Given the description of an element on the screen output the (x, y) to click on. 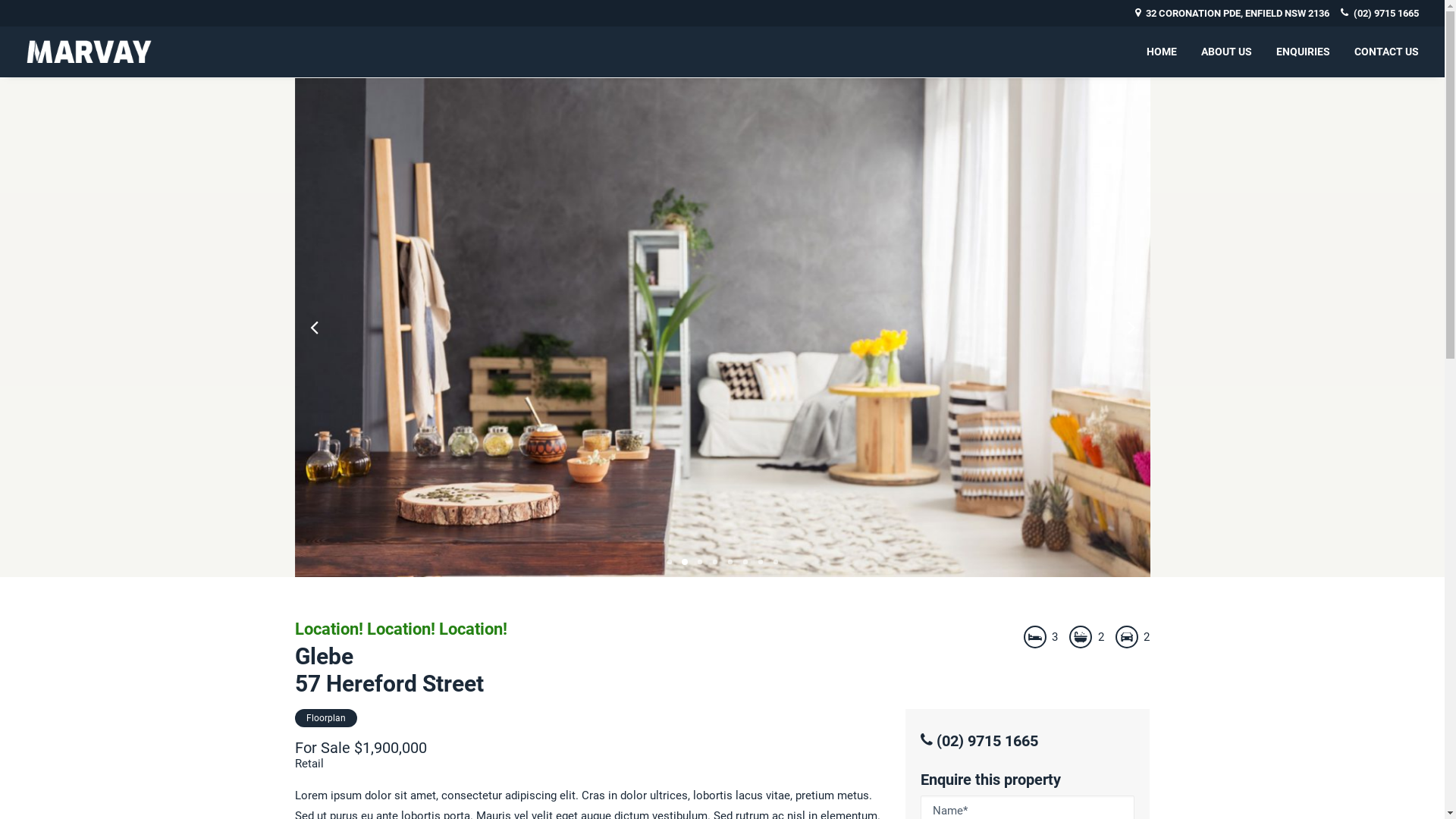
(02) 9715 1665 Element type: text (1379, 12)
ENQUIRIES Element type: text (1301, 51)
ABOUT US Element type: text (1226, 51)
Parking Spaces Element type: hover (1126, 635)
32 CORONATION PDE, ENFIELD NSW 2136 Element type: text (1231, 12)
(02) 9715 1665 Element type: text (979, 740)
CONTACT US Element type: text (1380, 51)
Bathrooms Element type: hover (1080, 635)
HOME Element type: text (1166, 51)
109 Element type: hover (721, 327)
Floorplan Element type: text (325, 718)
Bedrooms Element type: hover (1034, 635)
